Given the description of an element on the screen output the (x, y) to click on. 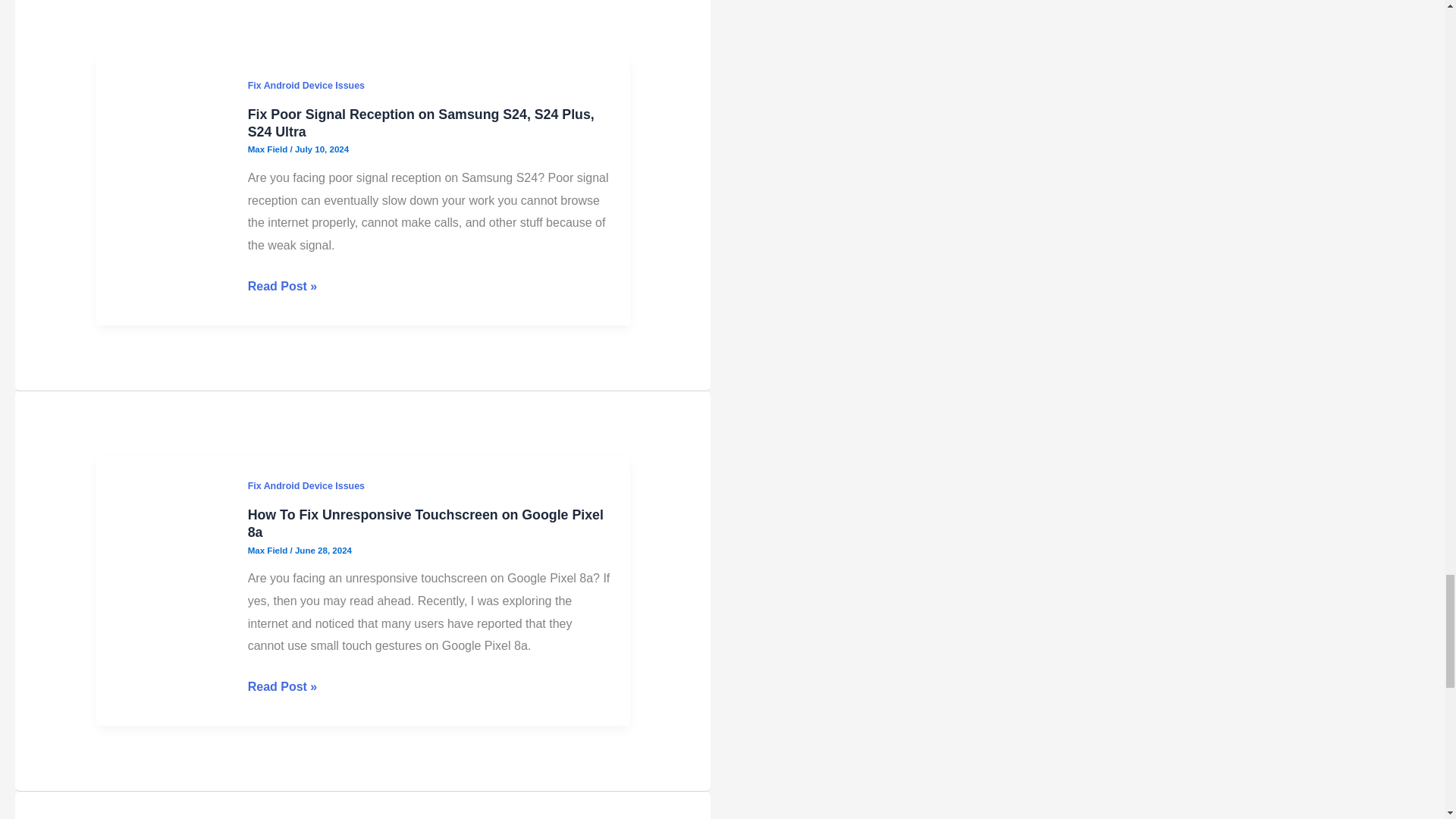
View all posts by Max Field (268, 375)
